Given the description of an element on the screen output the (x, y) to click on. 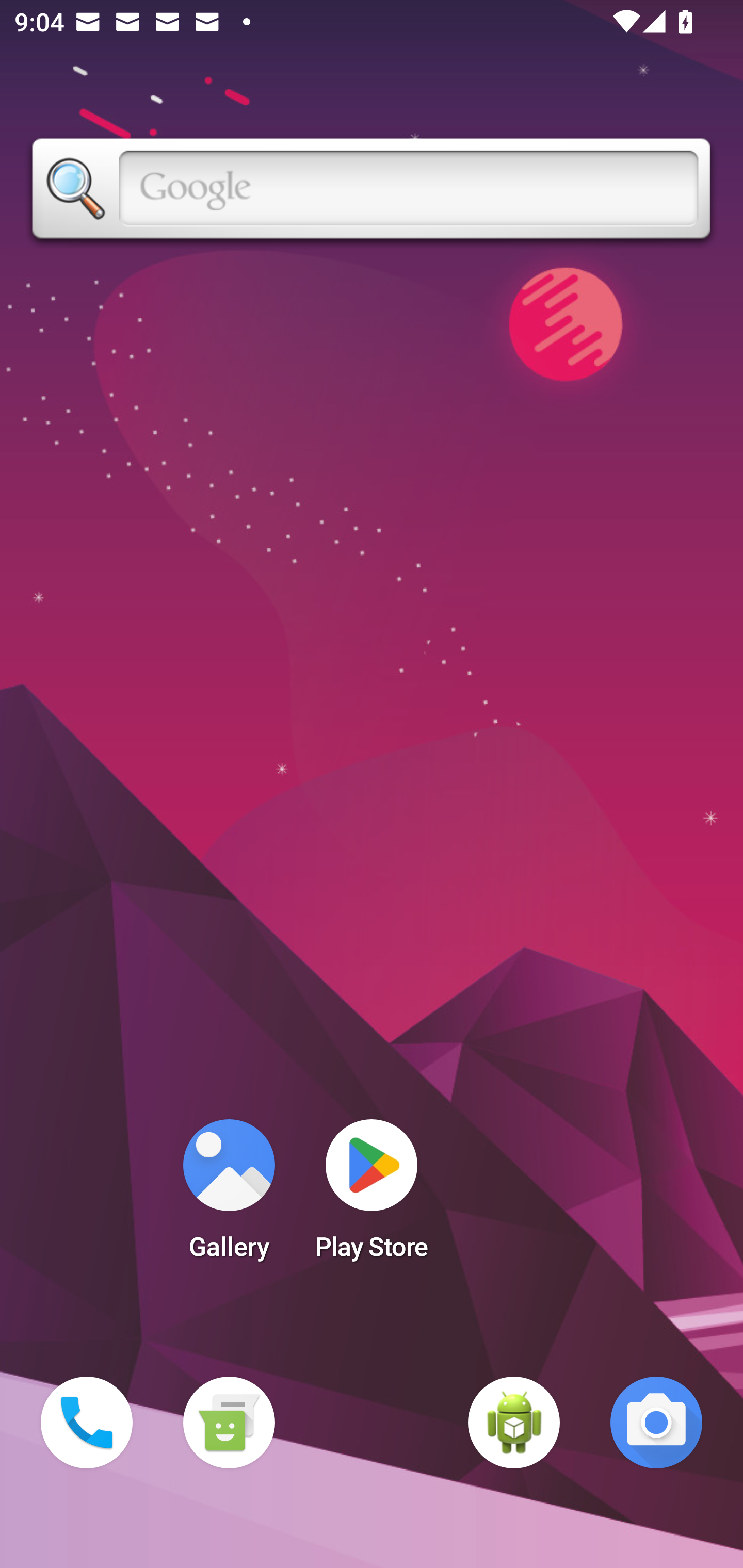
Gallery (228, 1195)
Play Store (371, 1195)
Phone (86, 1422)
Messaging (228, 1422)
WebView Browser Tester (513, 1422)
Camera (656, 1422)
